Given the description of an element on the screen output the (x, y) to click on. 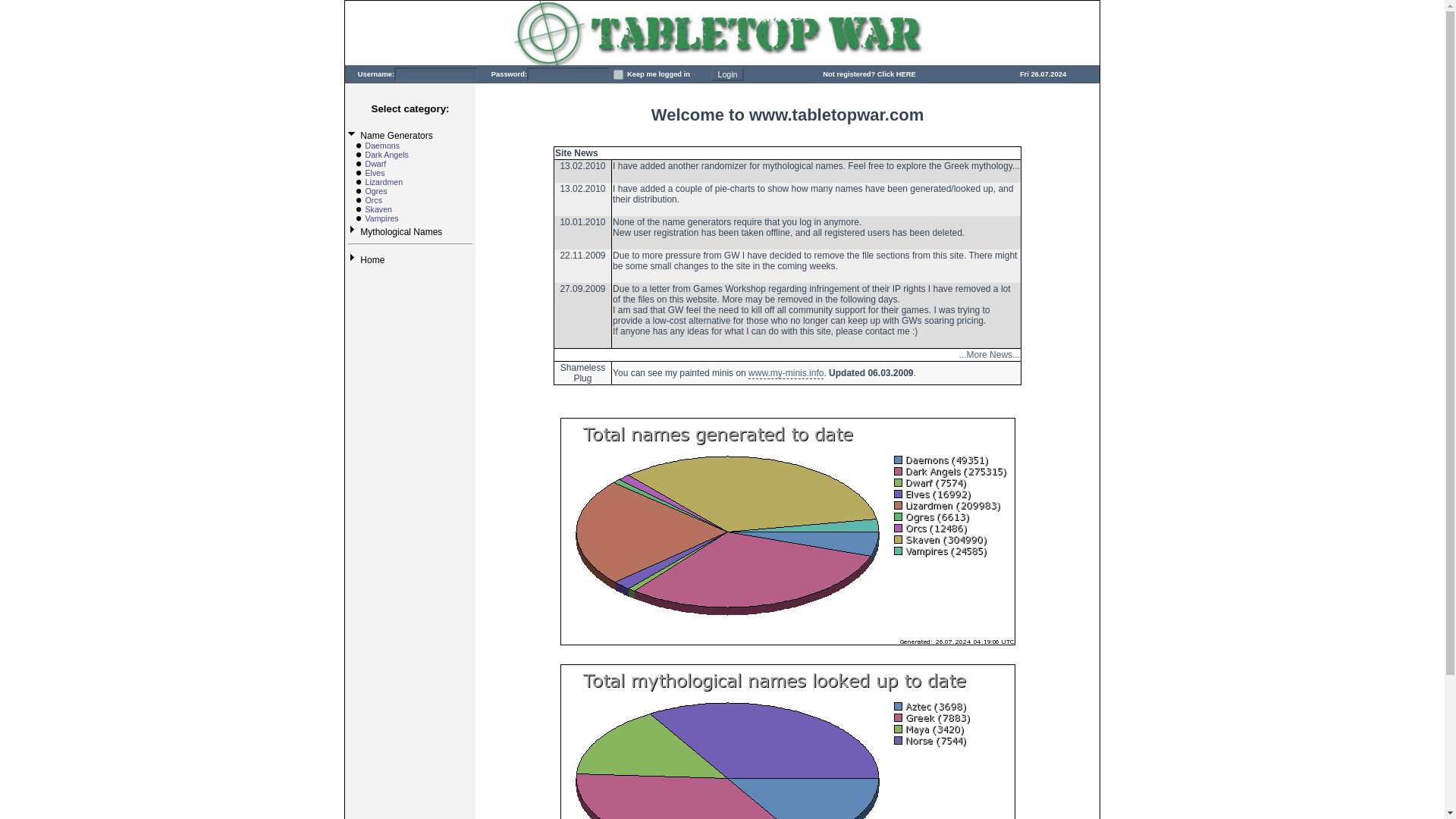
Orcs (373, 199)
Name Generators (395, 135)
Vampires (381, 217)
www.my-minis.info (786, 373)
Dwarf (375, 163)
...More News... (989, 354)
Dark Angels (386, 153)
Login (726, 74)
on (617, 74)
HERE (905, 73)
Elves (374, 172)
Home (371, 259)
Mythological Names (400, 231)
Daemons (381, 144)
Lizardmen (384, 181)
